Given the description of an element on the screen output the (x, y) to click on. 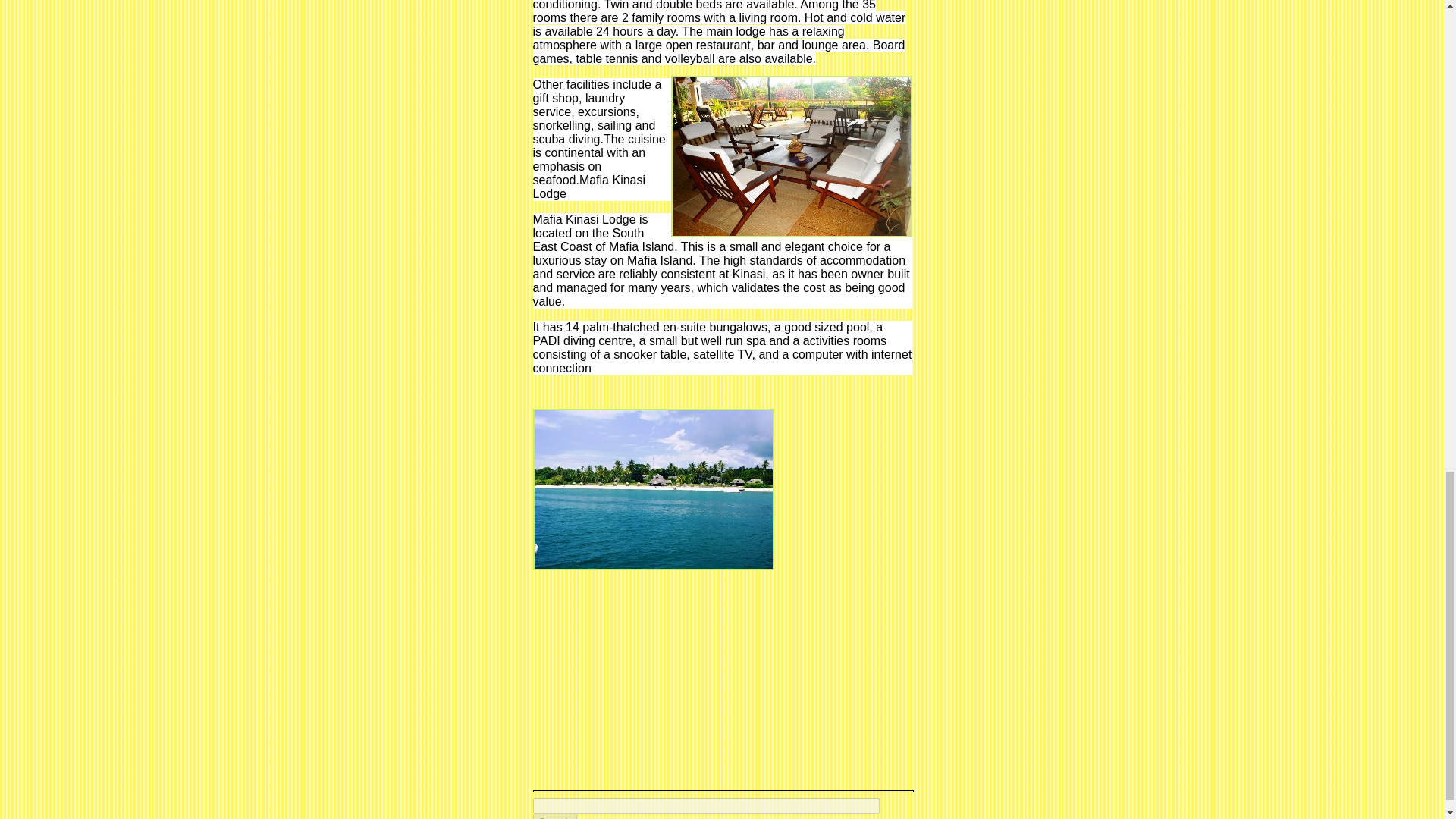
Advertisement (659, 678)
